Given the description of an element on the screen output the (x, y) to click on. 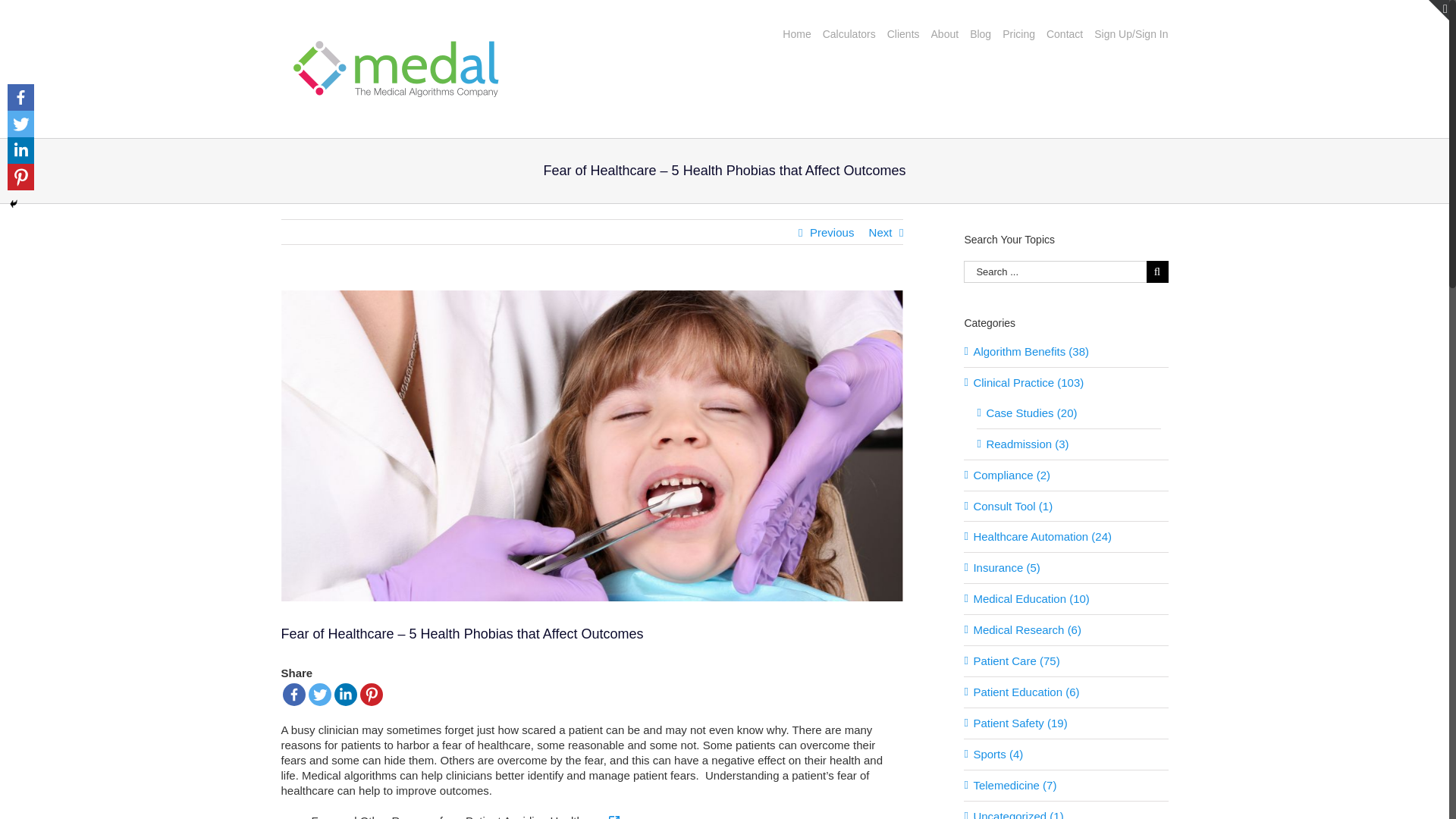
Twitter (318, 694)
Pinterest (370, 694)
Linkedin (344, 694)
Facebook (20, 97)
Linkedin (20, 150)
Facebook (293, 694)
Twitter (20, 123)
Pinterest (20, 176)
